Given the description of an element on the screen output the (x, y) to click on. 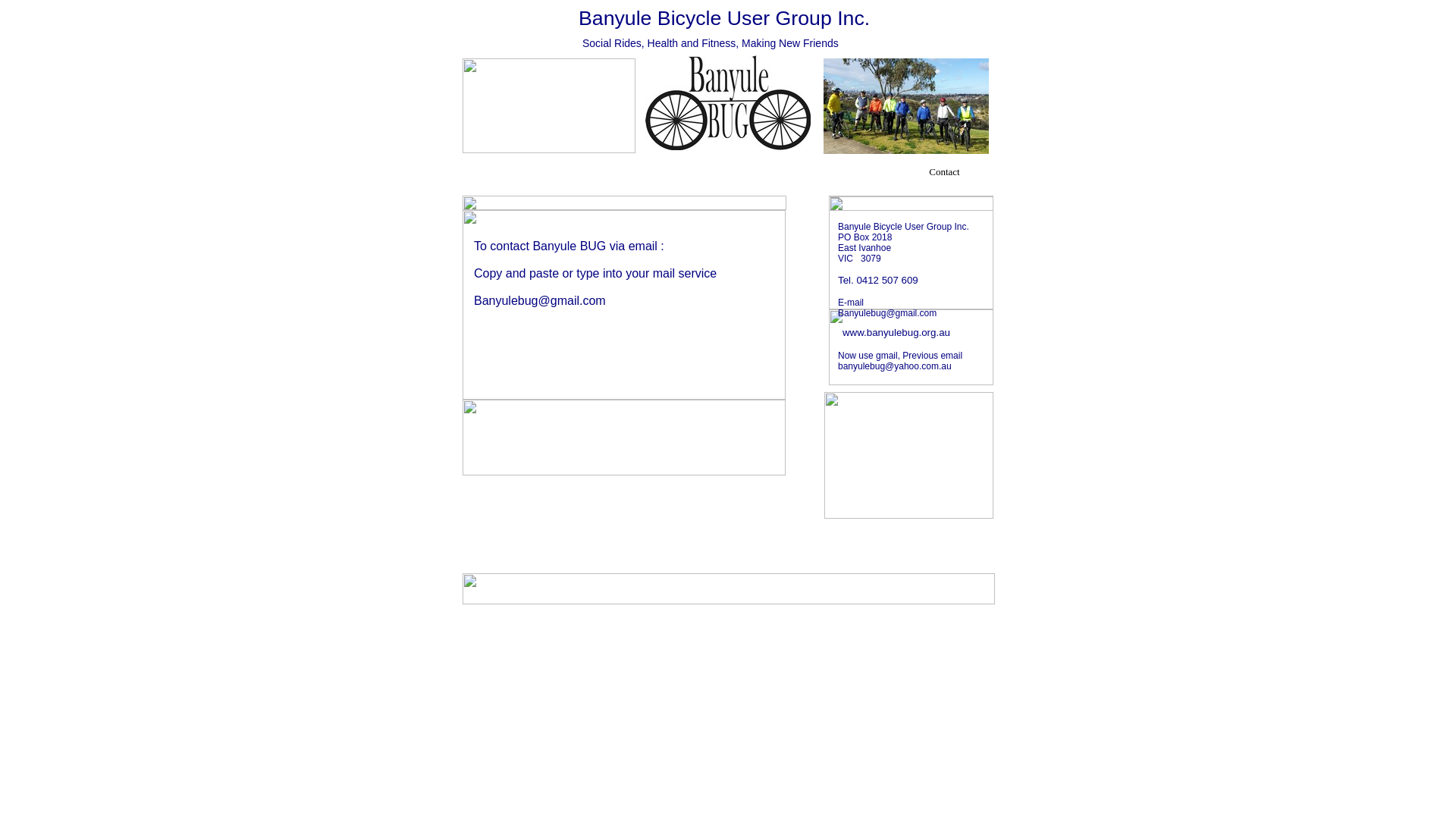
www.banyulebug.org.au Element type: text (896, 332)
Rides Element type: text (648, 175)
Join Us Element type: text (721, 175)
Contact Element type: text (944, 175)
Info Element type: text (796, 175)
Home Element type: text (499, 175)
Links Element type: text (870, 175)
News Element type: text (573, 175)
